Given the description of an element on the screen output the (x, y) to click on. 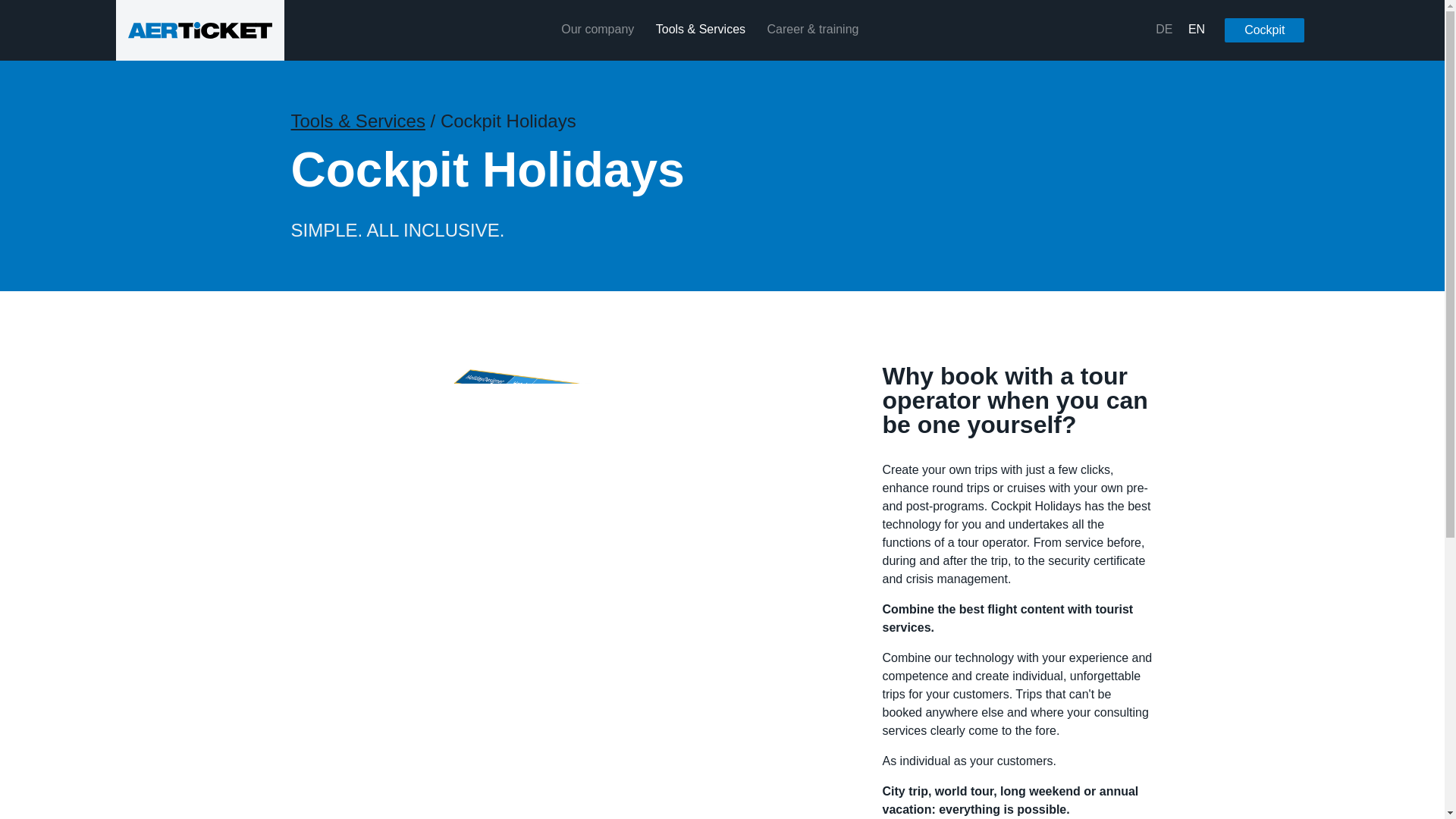
Our company (596, 30)
Cockpit (1264, 30)
EN (1196, 30)
German (1164, 30)
Booking world Cockpit. For AERTiCKET's customers only! (1264, 30)
DE (1164, 30)
English (1196, 30)
Our company (596, 30)
Home (199, 30)
